Given the description of an element on the screen output the (x, y) to click on. 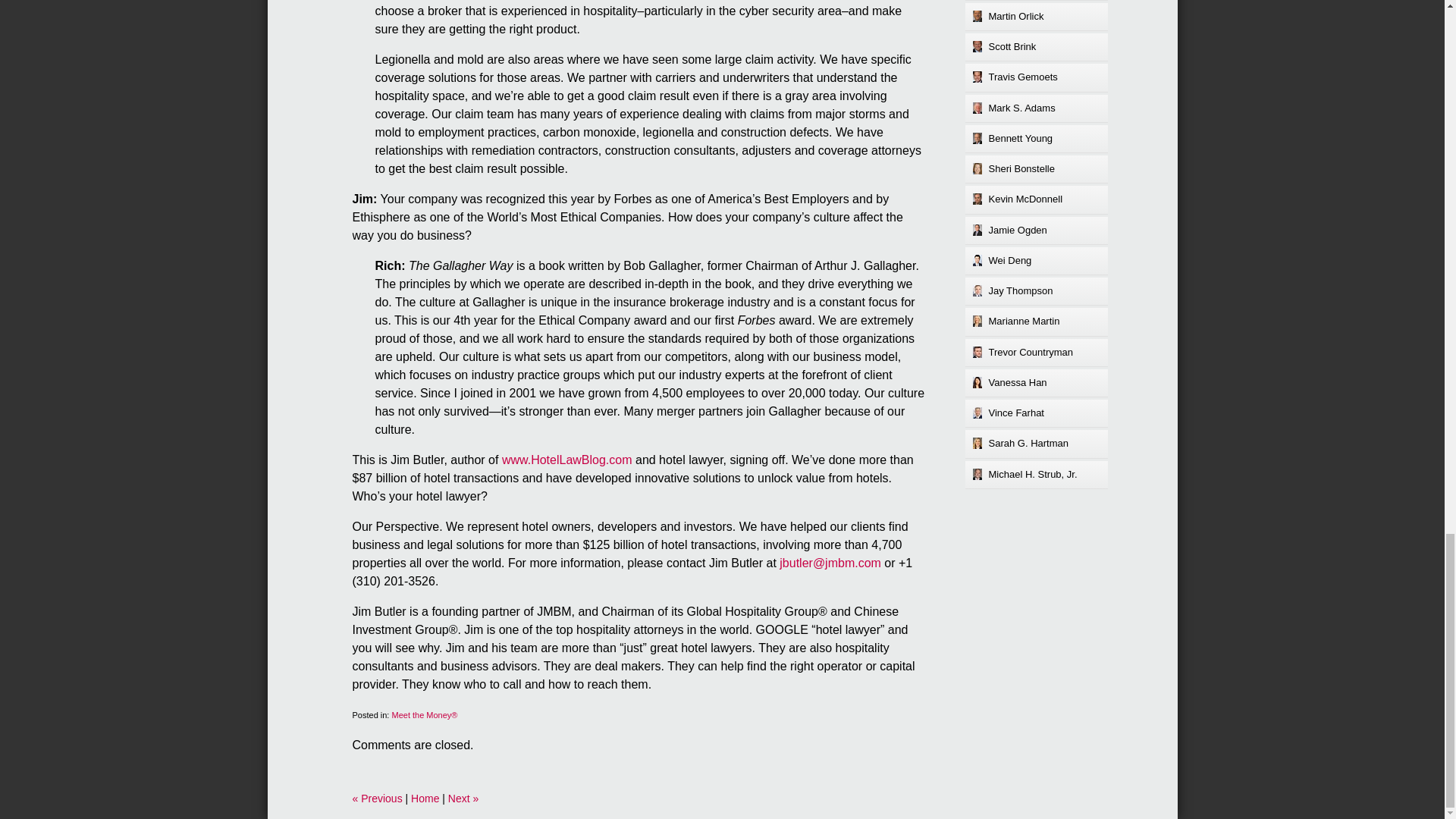
Send an email to Jim Butler (829, 562)
Hotel Law Blog (566, 459)
Home (424, 798)
www.HotelLawBlog.com (566, 459)
